Given the description of an element on the screen output the (x, y) to click on. 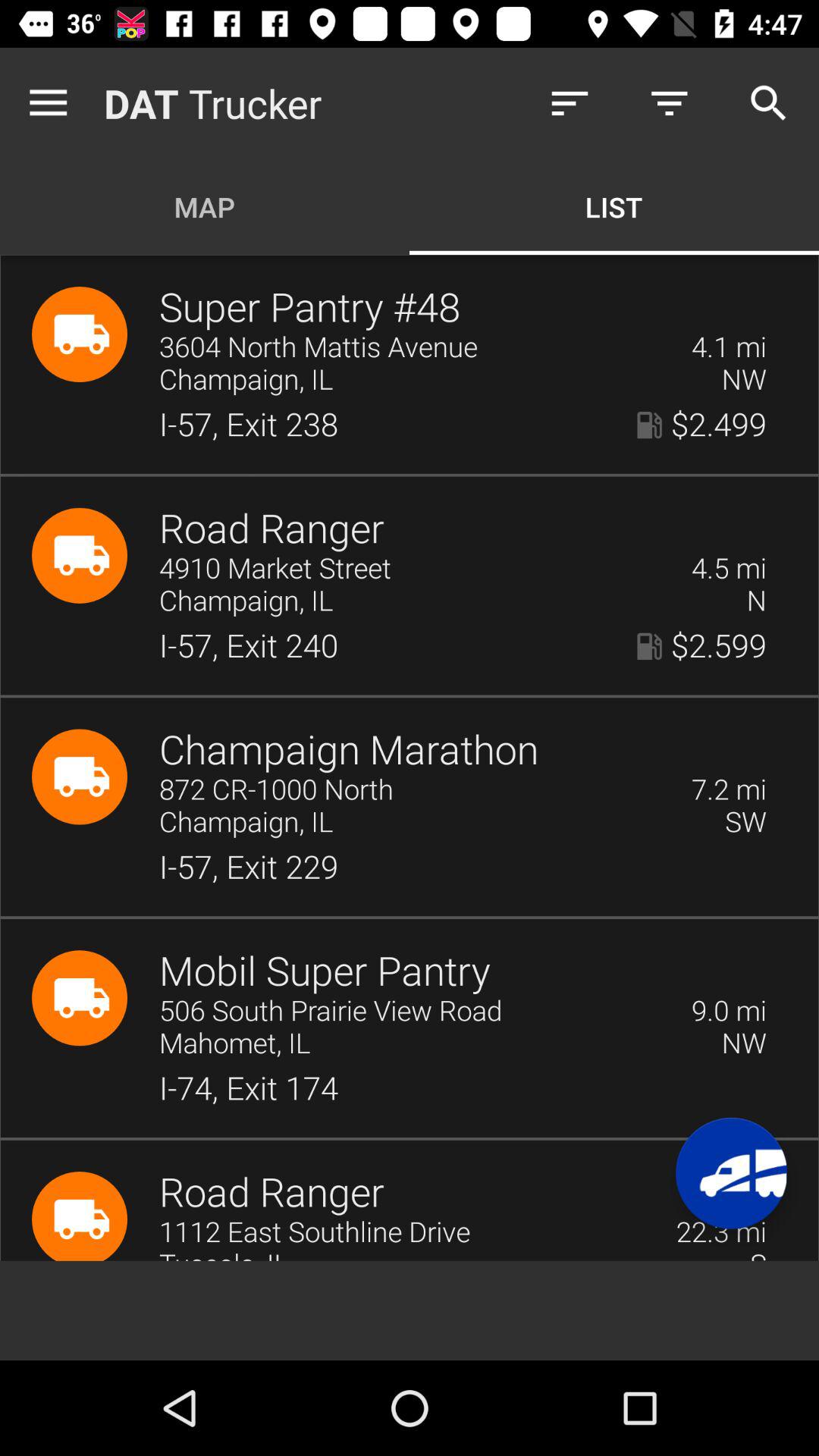
press the item next to 4.5 mi (415, 568)
